Given the description of an element on the screen output the (x, y) to click on. 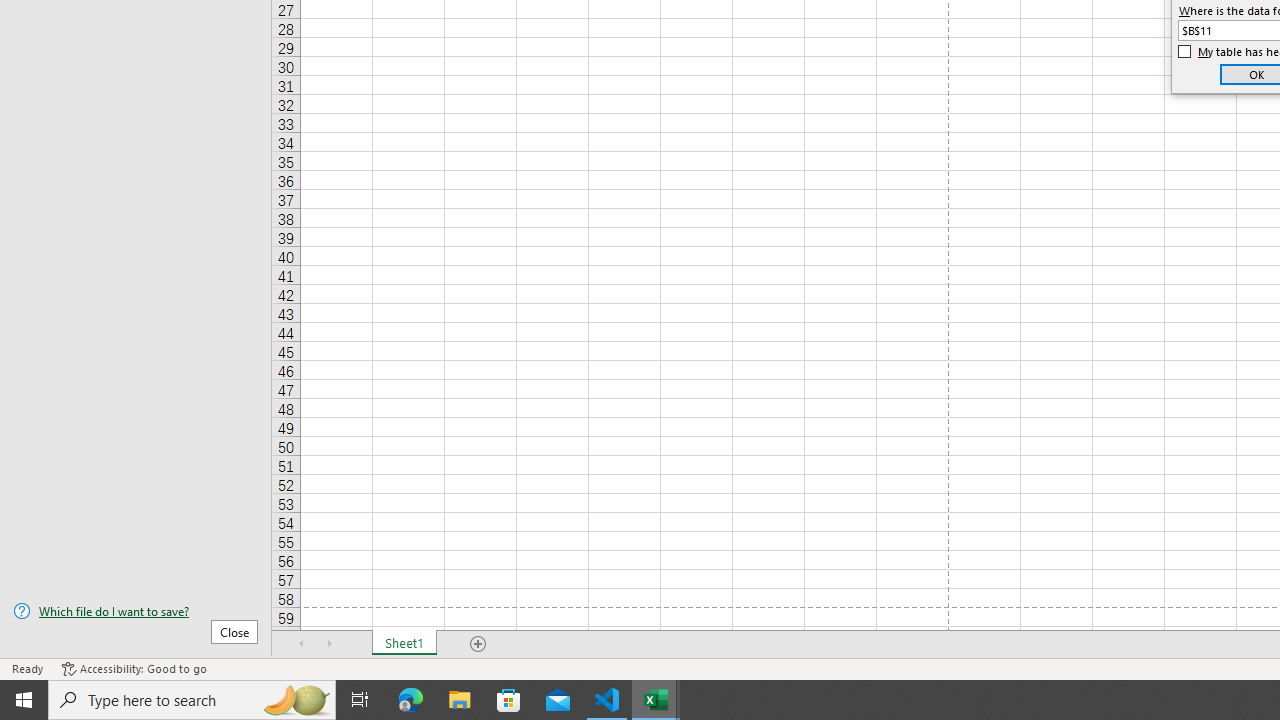
Accessibility Checker Accessibility: Good to go (134, 668)
Which file do I want to save? (136, 611)
Scroll Right (330, 644)
Scroll Left (302, 644)
Add Sheet (478, 644)
Sheet1 (404, 644)
